Given the description of an element on the screen output the (x, y) to click on. 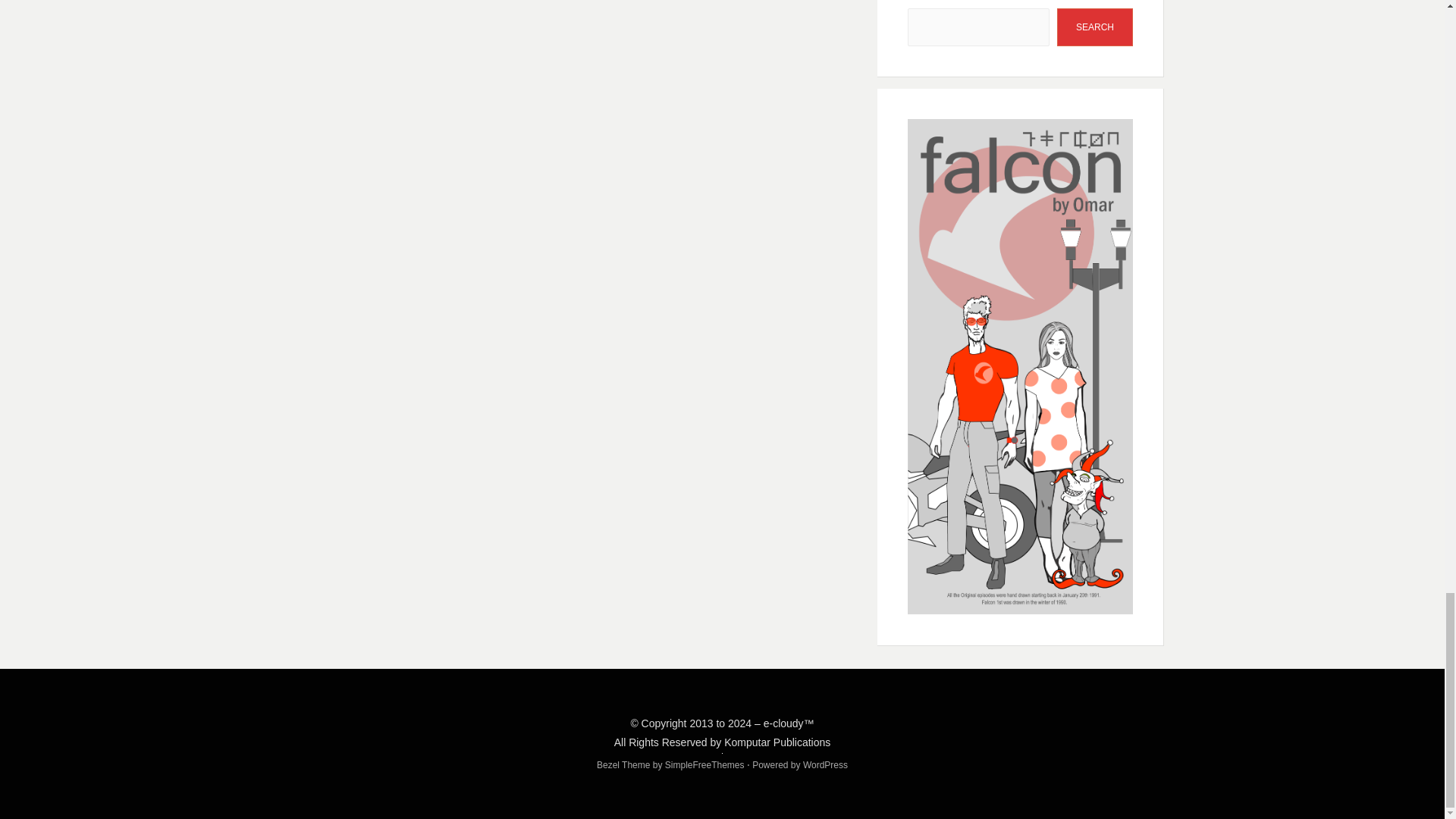
SimpleFreeThemes (704, 765)
WordPress (825, 765)
